Given the description of an element on the screen output the (x, y) to click on. 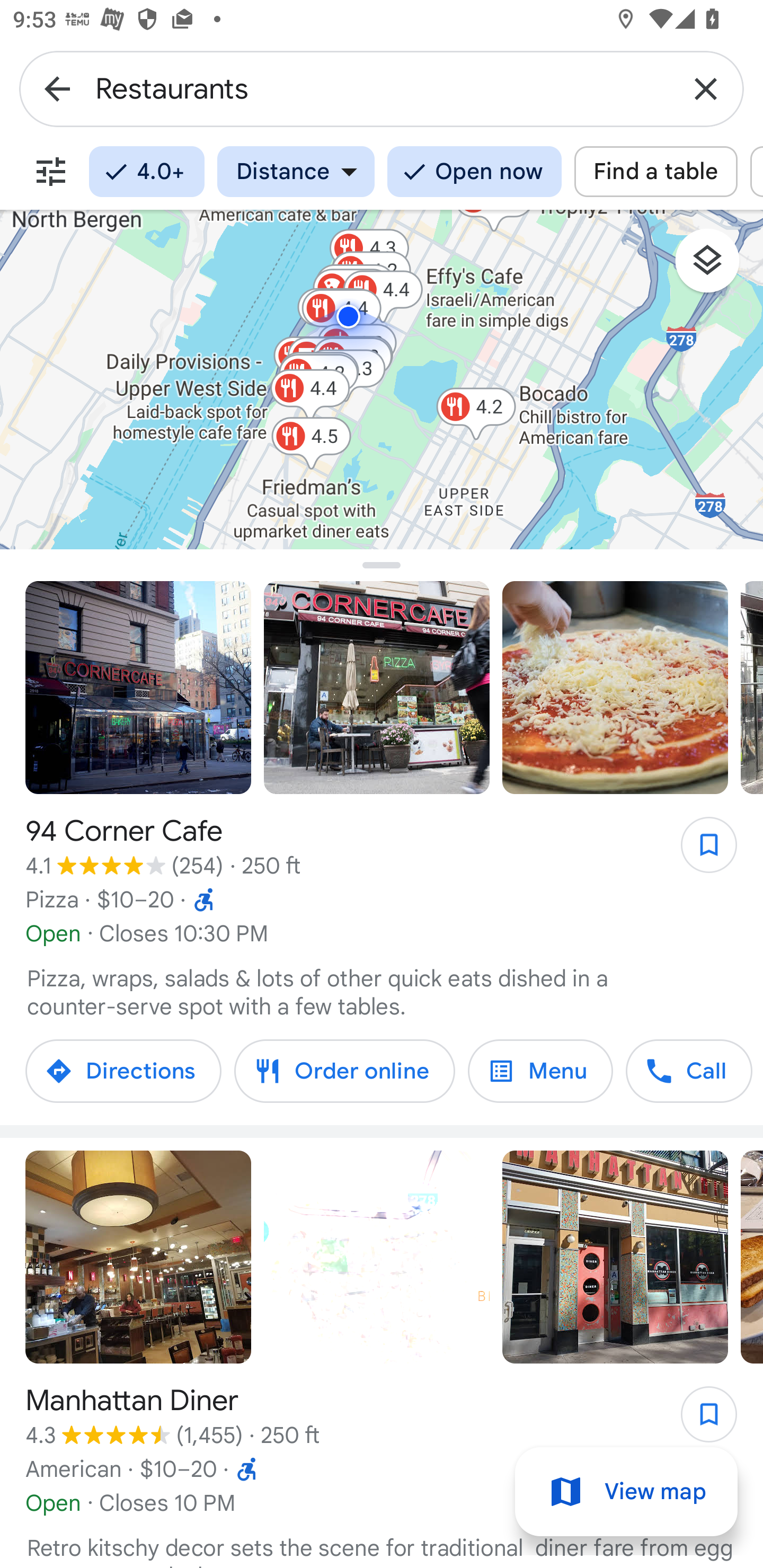
Back (57, 88)
Restaurants (381, 88)
Clear (705, 88)
More filters (50, 171)
4.0+ (146, 171)
Distance (295, 171)
Open now (474, 171)
Find a table (655, 171)
Layers (716, 267)
Photo (138, 687)
Photo (376, 687)
Photo (614, 687)
Save 94 Corner Cafe to lists (699, 851)
Order online Order online Order online (344, 1070)
94 Corner Cafe Menu Menu 94 Corner Cafe Menu (539, 1070)
Photo (138, 1257)
Video (376, 1257)
Photo (614, 1257)
Save Manhattan Diner to lists (699, 1420)
View map Map view (626, 1491)
